Given the description of an element on the screen output the (x, y) to click on. 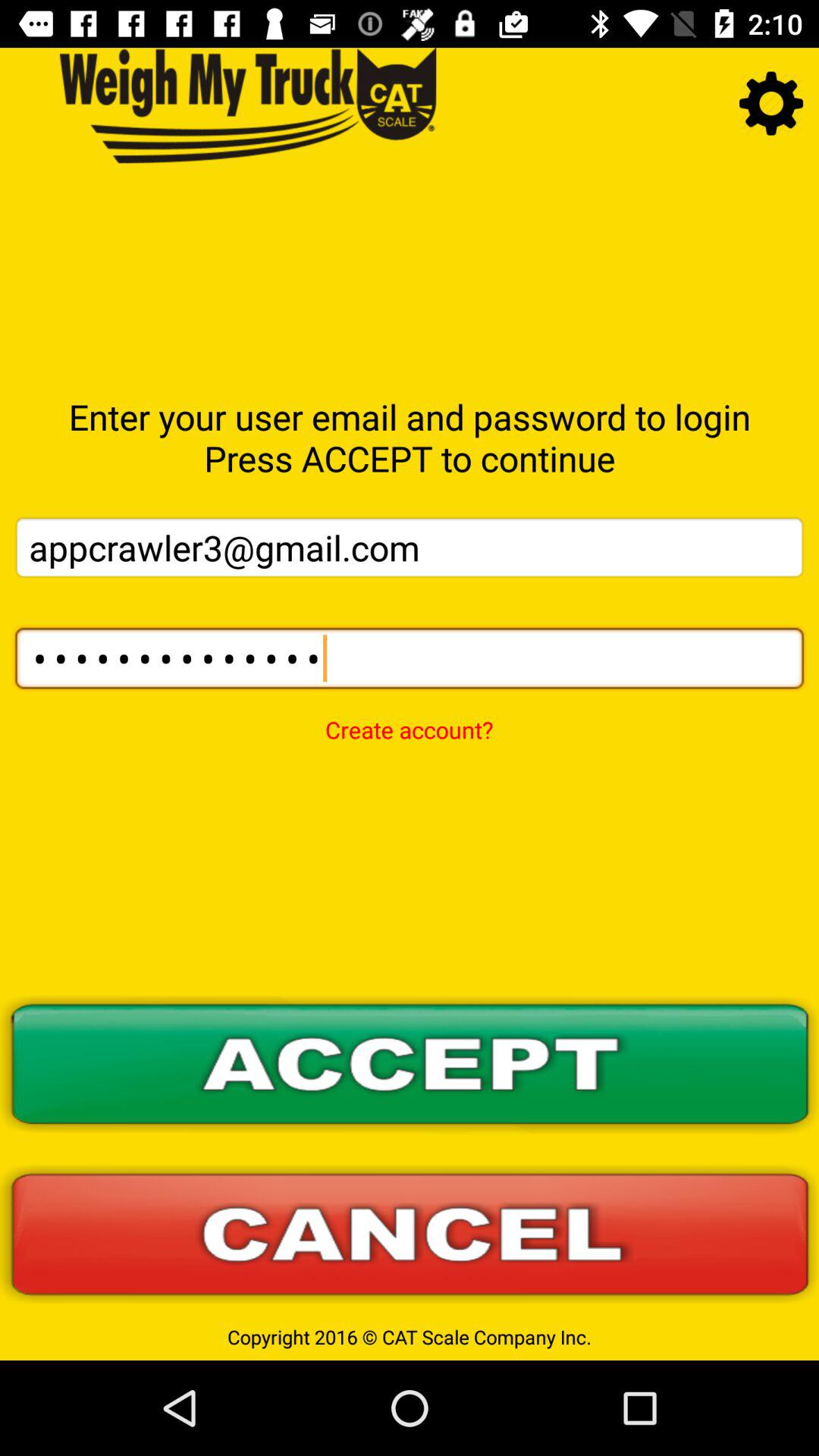
choose the icon below enter your user icon (409, 546)
